Given the description of an element on the screen output the (x, y) to click on. 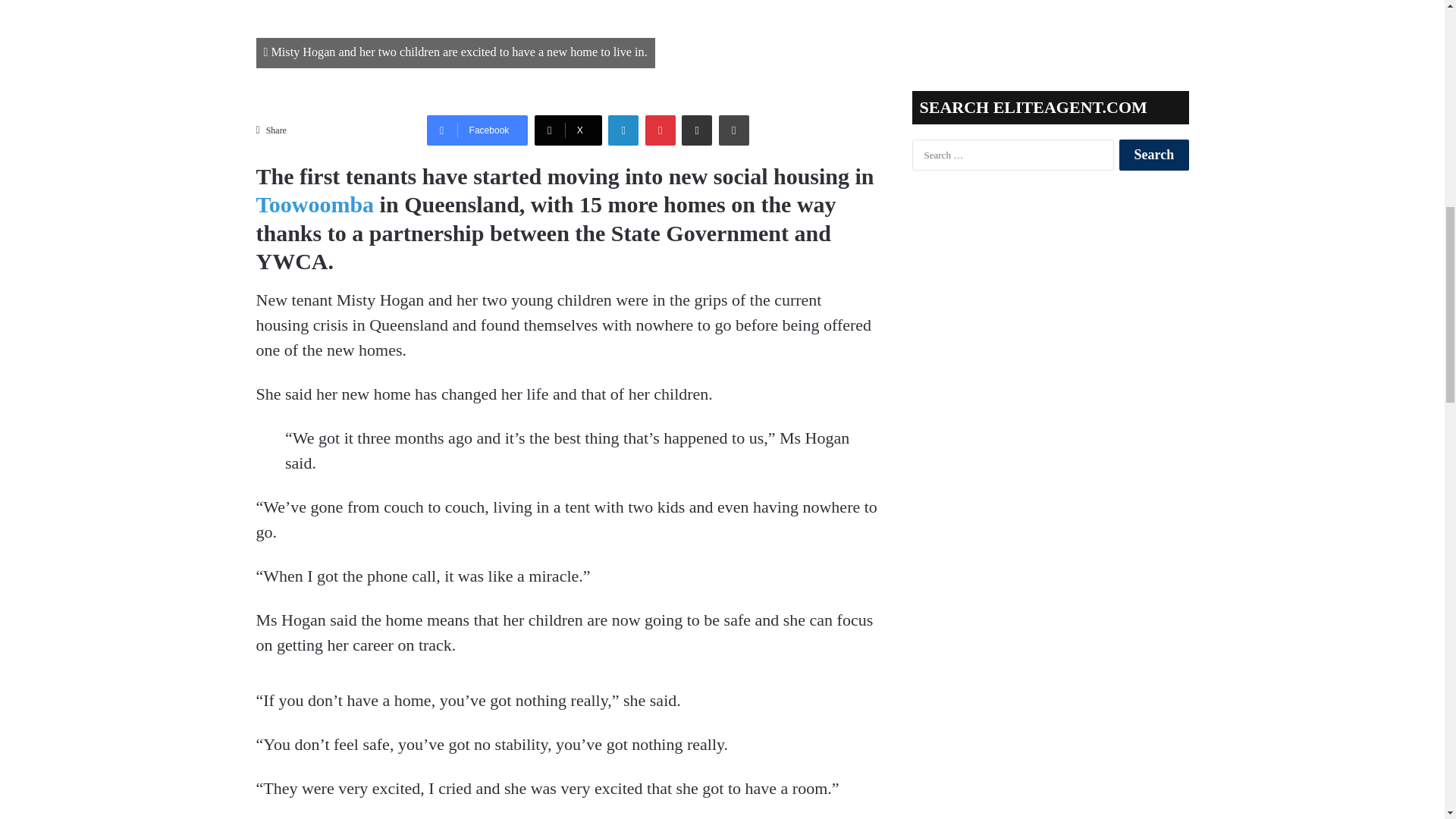
Search (1153, 154)
Pinterest (660, 130)
LinkedIn (623, 130)
Search (1153, 154)
Share via Email (696, 130)
Print (734, 130)
Facebook (477, 130)
X (568, 130)
